Given the description of an element on the screen output the (x, y) to click on. 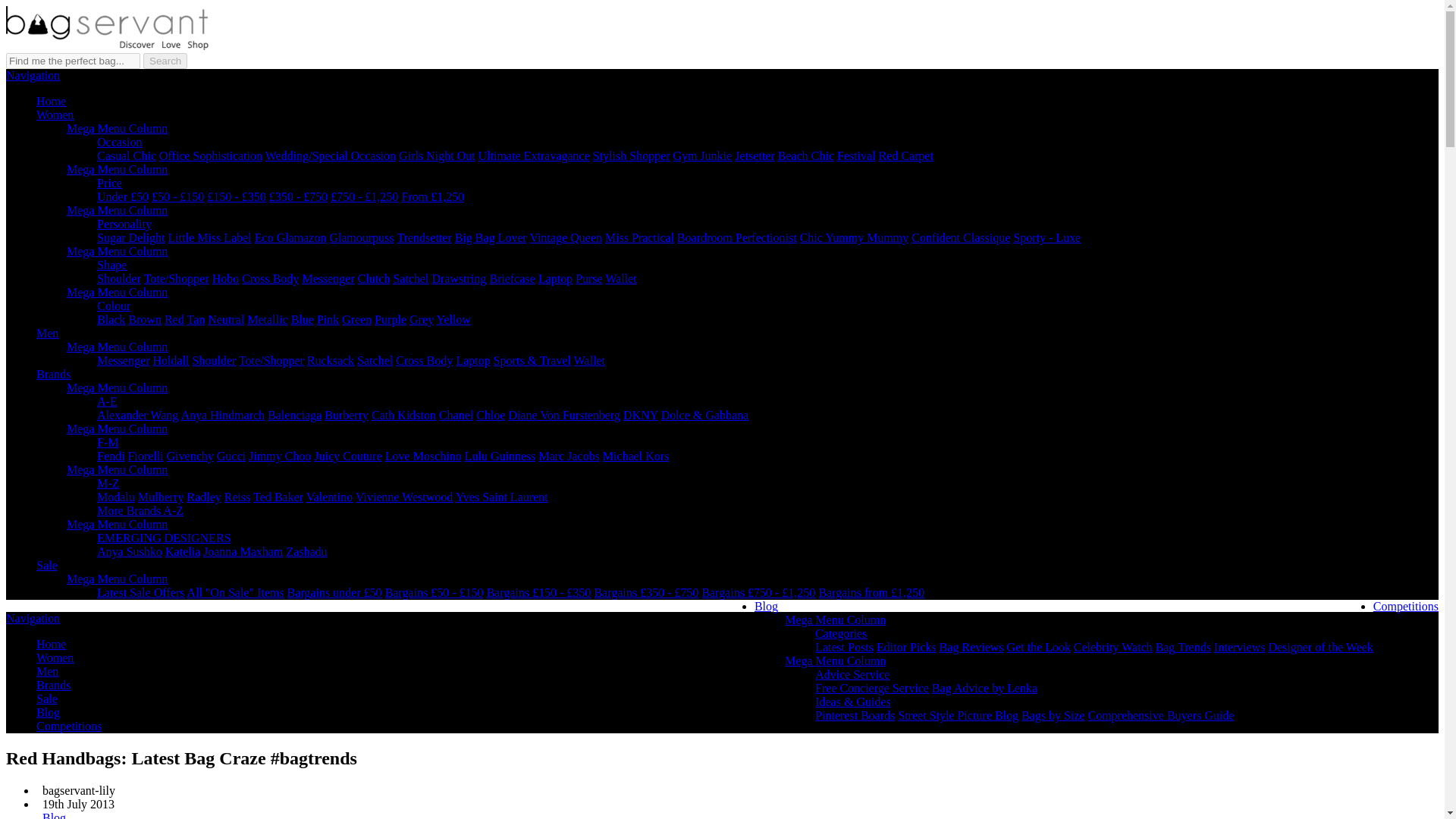
Search (164, 60)
Chic Yummy Mummy (853, 237)
Eco Glamazon (290, 237)
Girls Night Out (436, 155)
Big Bag Lover (490, 237)
Sporty - Luxe (1046, 237)
Office Sophistication (210, 155)
Vintage Queen (565, 237)
Search (164, 60)
Mega Menu Column (116, 128)
Women (55, 114)
Occasion (119, 141)
Price (109, 182)
Back home (106, 45)
Mega Menu Column (116, 210)
